Given the description of an element on the screen output the (x, y) to click on. 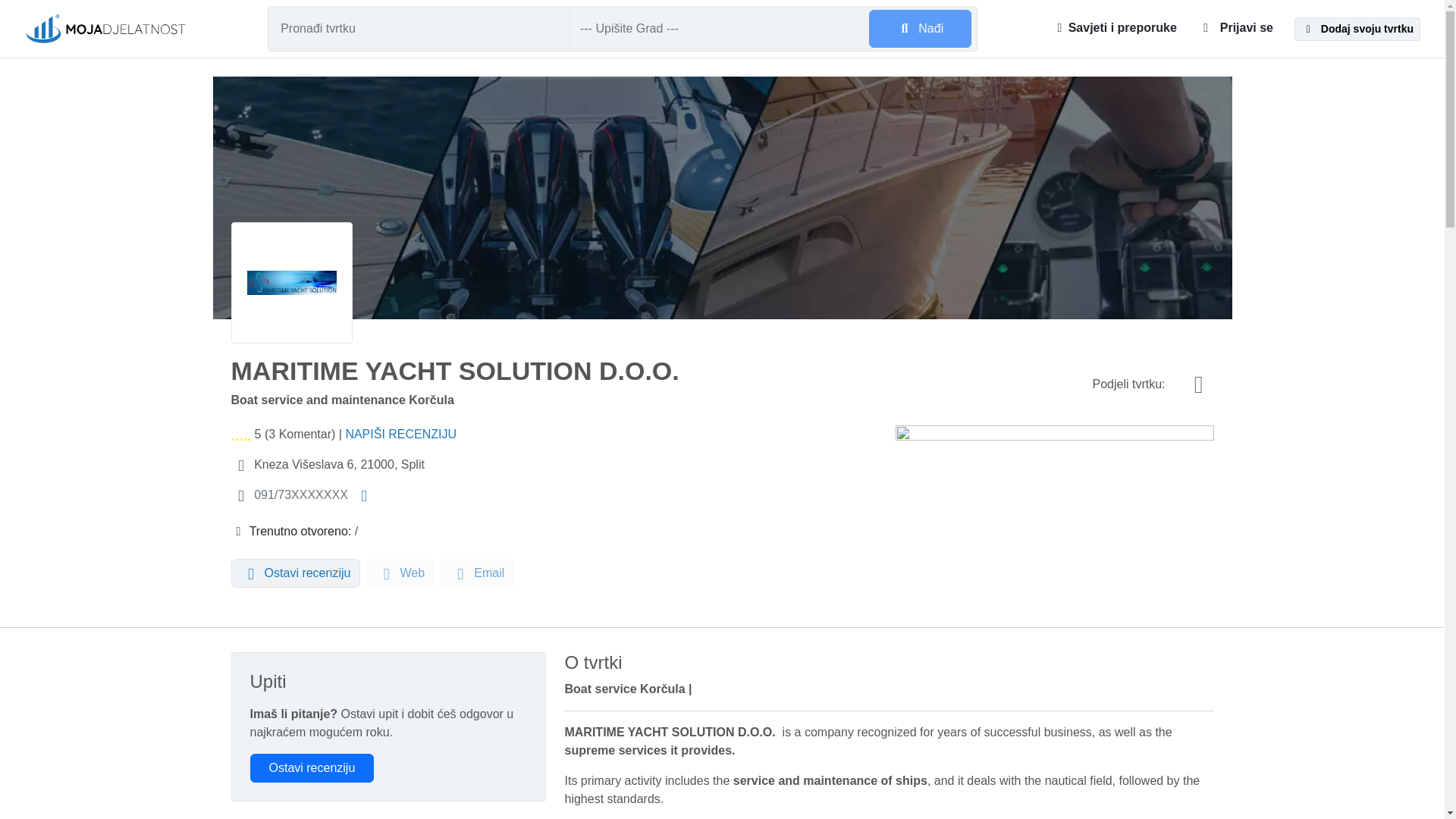
Savjeti i preporuke (1116, 27)
Prijavi se (1235, 27)
Email (477, 573)
Dodaj svoju tvrtku (1357, 28)
Web (399, 573)
Ostavi recenziju (312, 767)
Ostavi recenziju (294, 573)
